Given the description of an element on the screen output the (x, y) to click on. 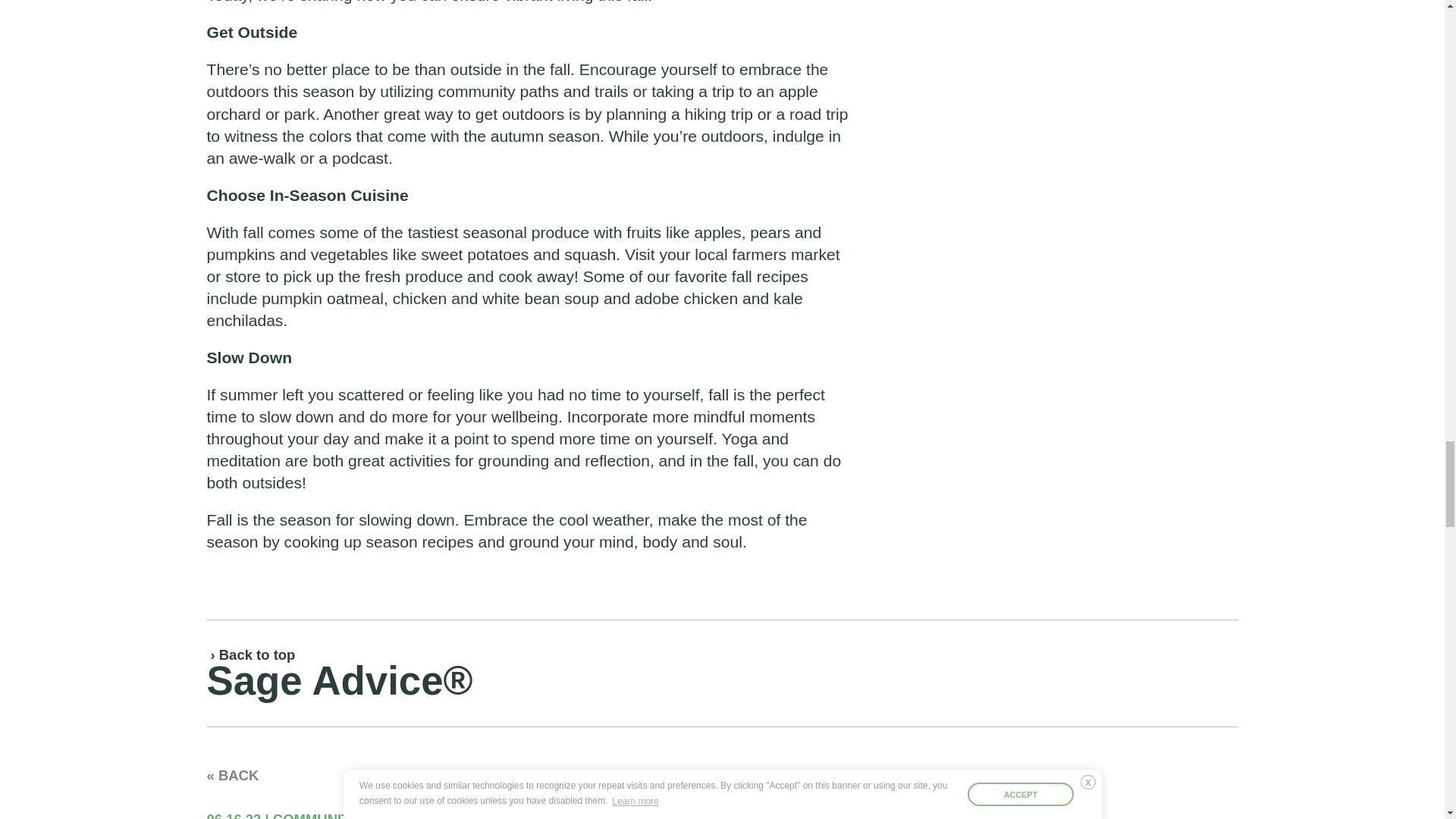
pumpkin oatmeal (323, 298)
awe-walk (261, 158)
chicken and white bean soup (495, 298)
meditation (242, 460)
podcast (359, 158)
adobe chicken and kale enchiladas (504, 309)
